Given the description of an element on the screen output the (x, y) to click on. 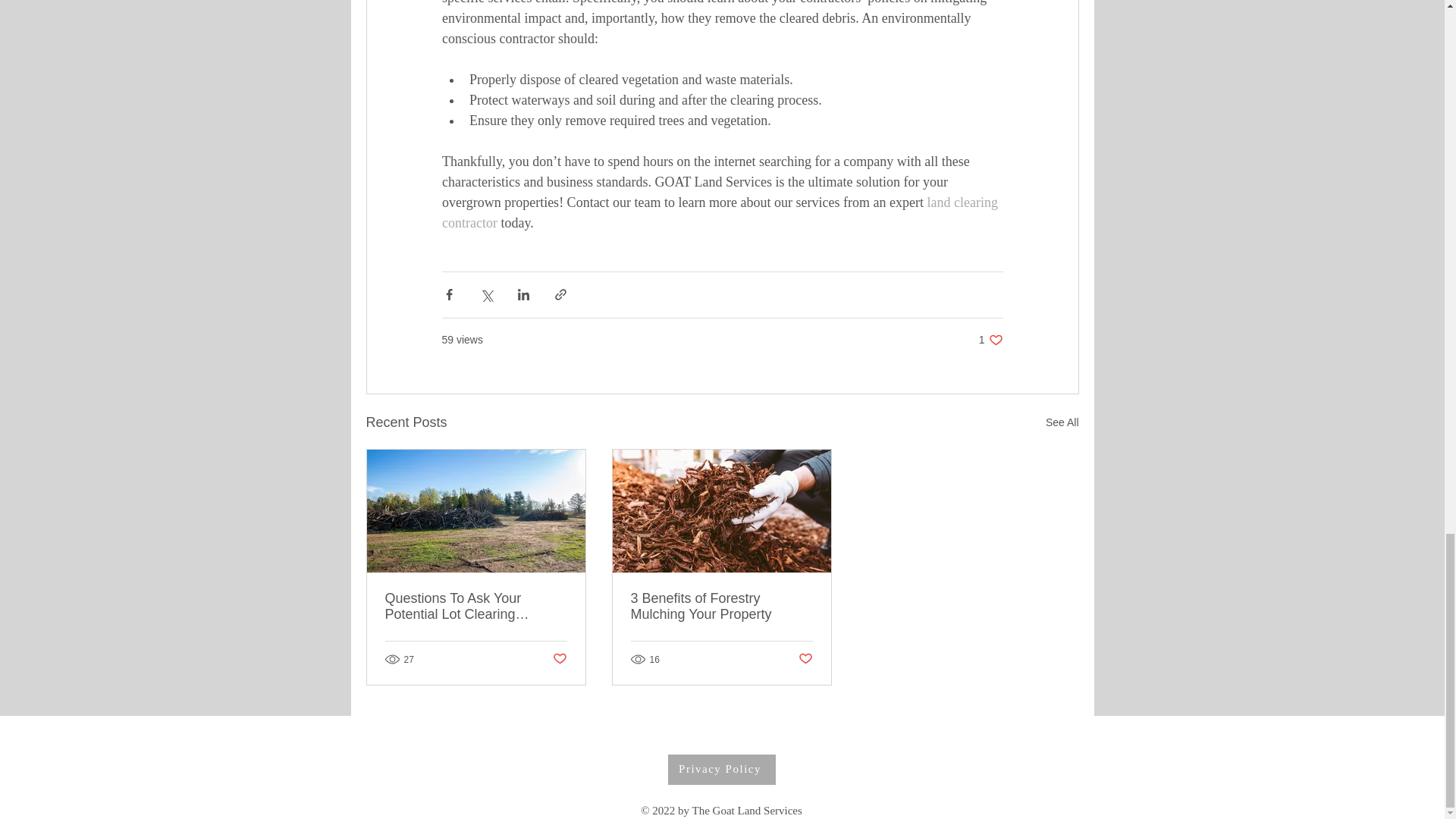
3 Benefits of Forestry Mulching Your Property (721, 606)
Questions To Ask Your Potential Lot Clearing Contractor (476, 606)
Privacy Policy (720, 769)
Post not marked as liked (558, 659)
land clearing contractor (720, 212)
See All (1061, 422)
Post not marked as liked (990, 339)
